Given the description of an element on the screen output the (x, y) to click on. 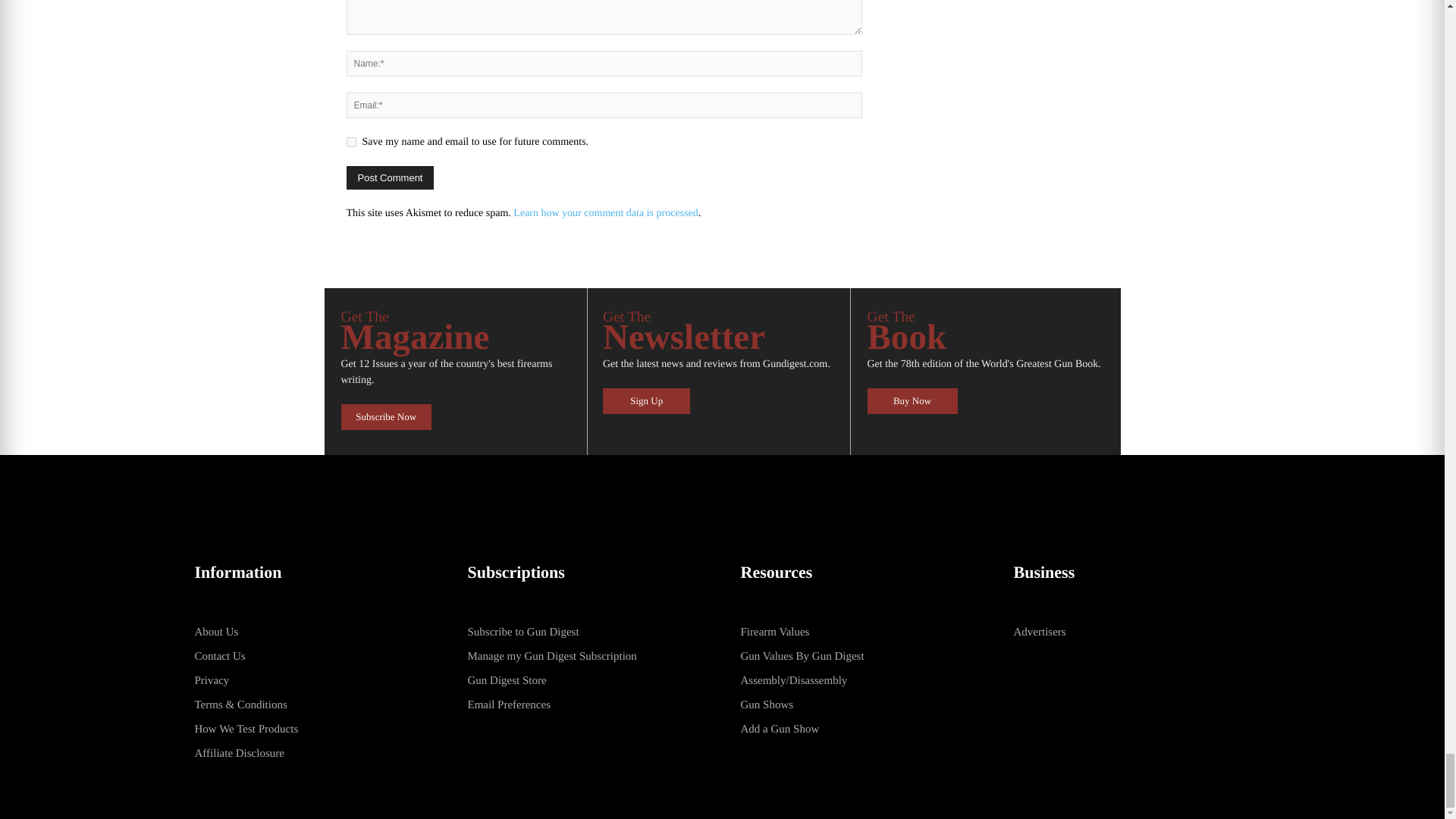
Post Comment (389, 177)
yes (350, 142)
